Given the description of an element on the screen output the (x, y) to click on. 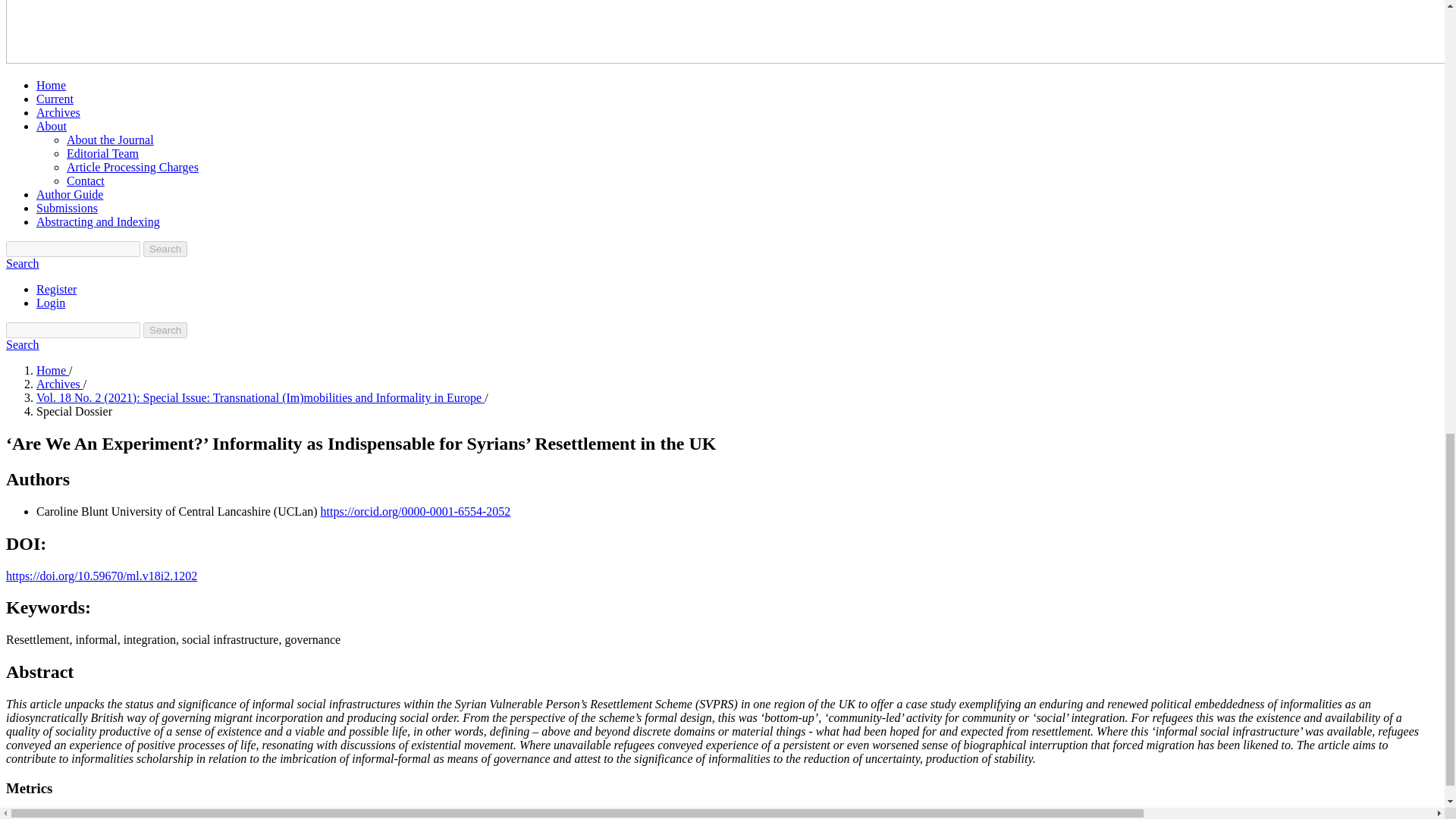
Archives (59, 383)
About the Journal (110, 139)
Home (50, 84)
Current (55, 98)
Login (50, 302)
Contact (85, 180)
Submissions (66, 207)
Register (56, 288)
Archives (58, 112)
Search (164, 330)
